Given the description of an element on the screen output the (x, y) to click on. 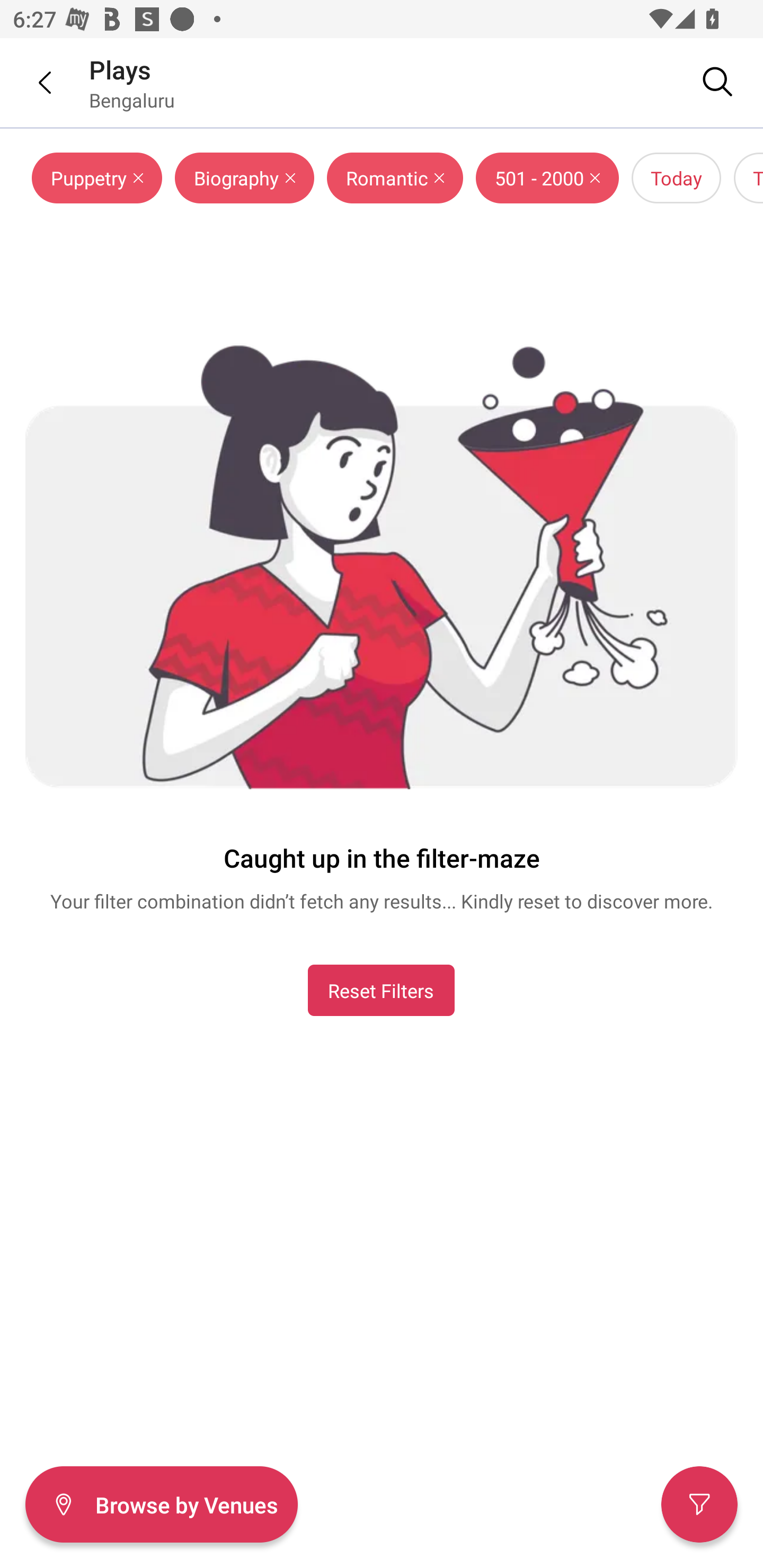
Back (31, 82)
Plays (120, 68)
Bengaluru (131, 99)
Puppetry Close (96, 177)
Biography Close (244, 177)
Romantic Close (394, 177)
501 - 2000 Close (547, 177)
Today (676, 177)
Reset Filters (380, 990)
Filter Browse by Venues (161, 1504)
Filter (699, 1504)
